Given the description of an element on the screen output the (x, y) to click on. 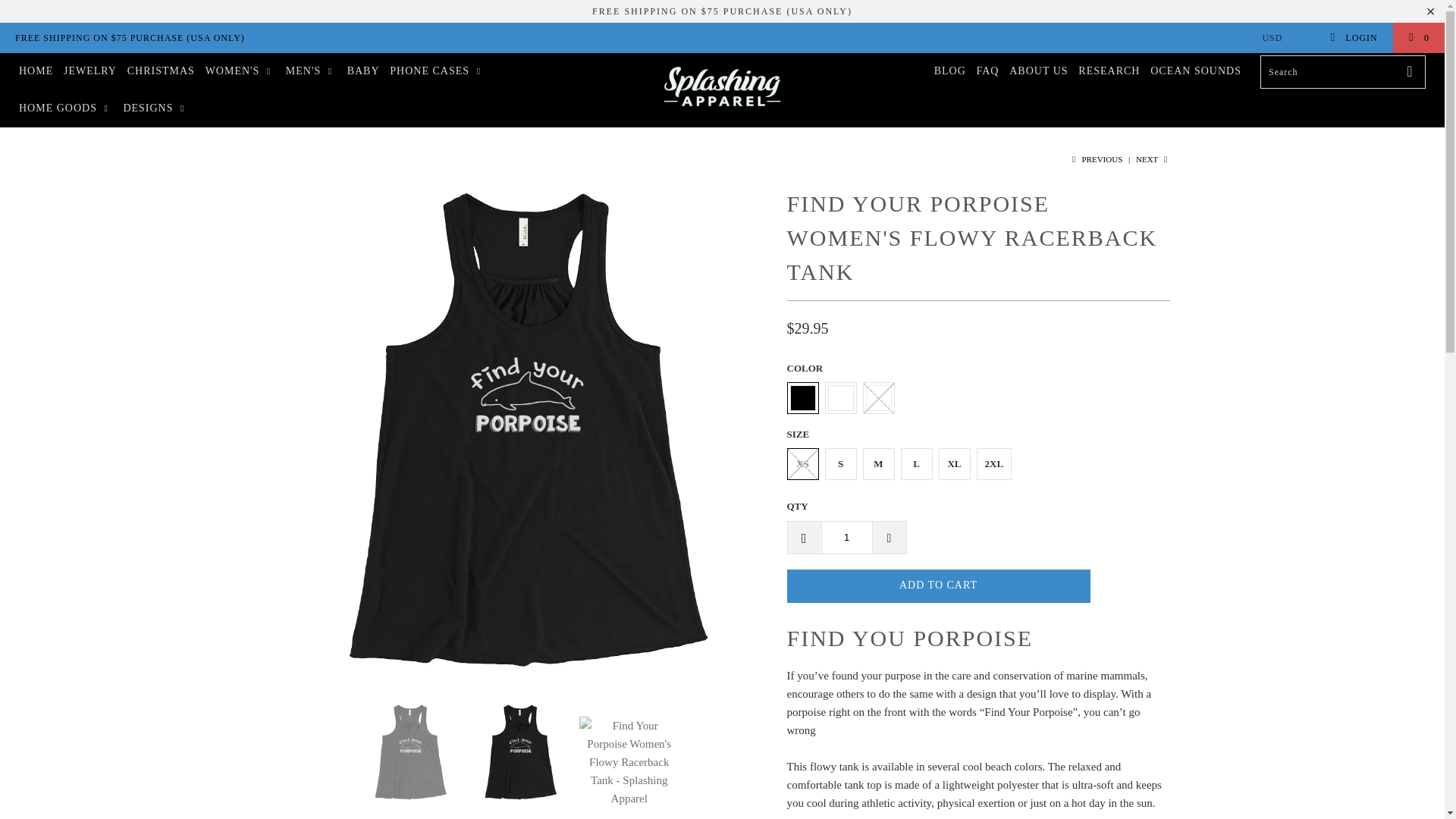
My Account  (1352, 37)
1 (846, 536)
Previous (1095, 158)
Splashing Apparel (722, 88)
Next (1152, 158)
